Given the description of an element on the screen output the (x, y) to click on. 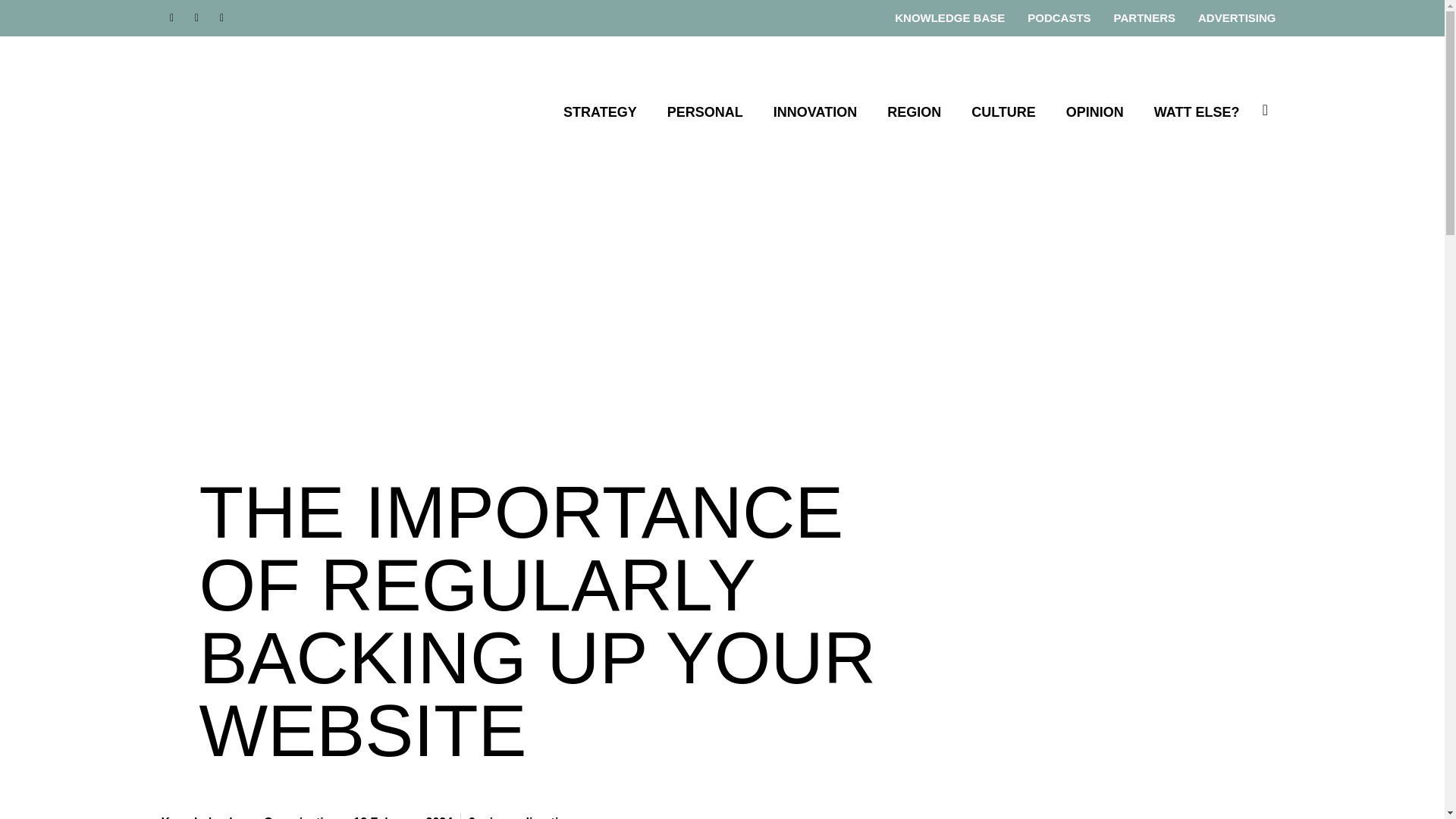
PARTNERS (1143, 17)
STRATEGY (600, 112)
PODCASTS (1058, 17)
INNOVATION (815, 112)
Instagram (221, 17)
Linkedin-in (197, 17)
ADVERTISING (1237, 17)
OPINION (1094, 112)
CULTURE (1003, 112)
KNOWLEDGE BASE (949, 17)
PERSONAL (704, 112)
WATT ELSE? (1197, 112)
REGION (913, 112)
Facebook-f (171, 17)
